Given the description of an element on the screen output the (x, y) to click on. 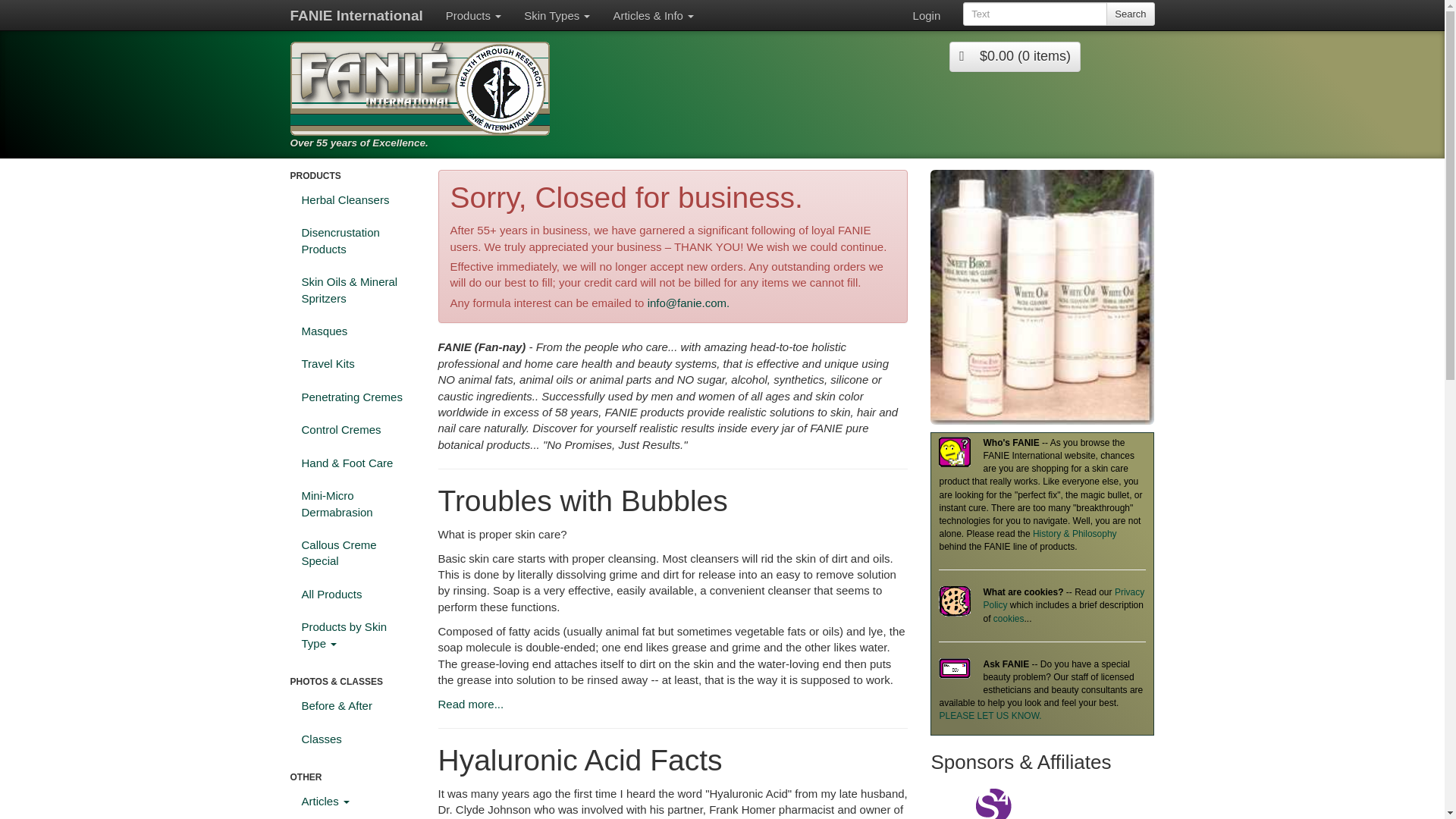
Skin Types (556, 15)
Click here to view your basket and proceed to checkout. (1014, 56)
Products (472, 15)
FANIE International (356, 15)
